Given the description of an element on the screen output the (x, y) to click on. 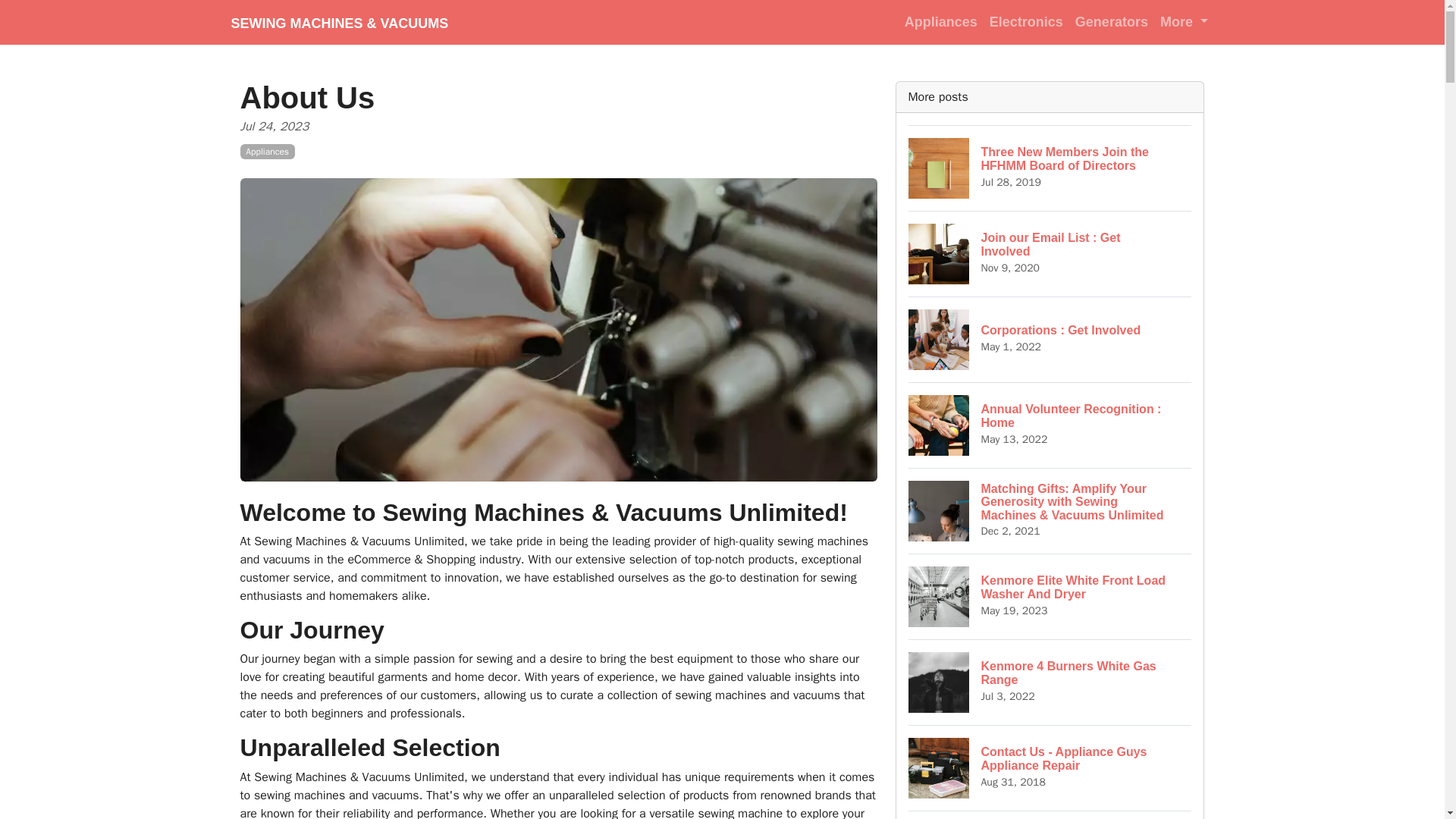
Electronics (1050, 424)
Appliances (1050, 681)
Appliances (1050, 339)
More (1026, 21)
Generators (941, 21)
